Given the description of an element on the screen output the (x, y) to click on. 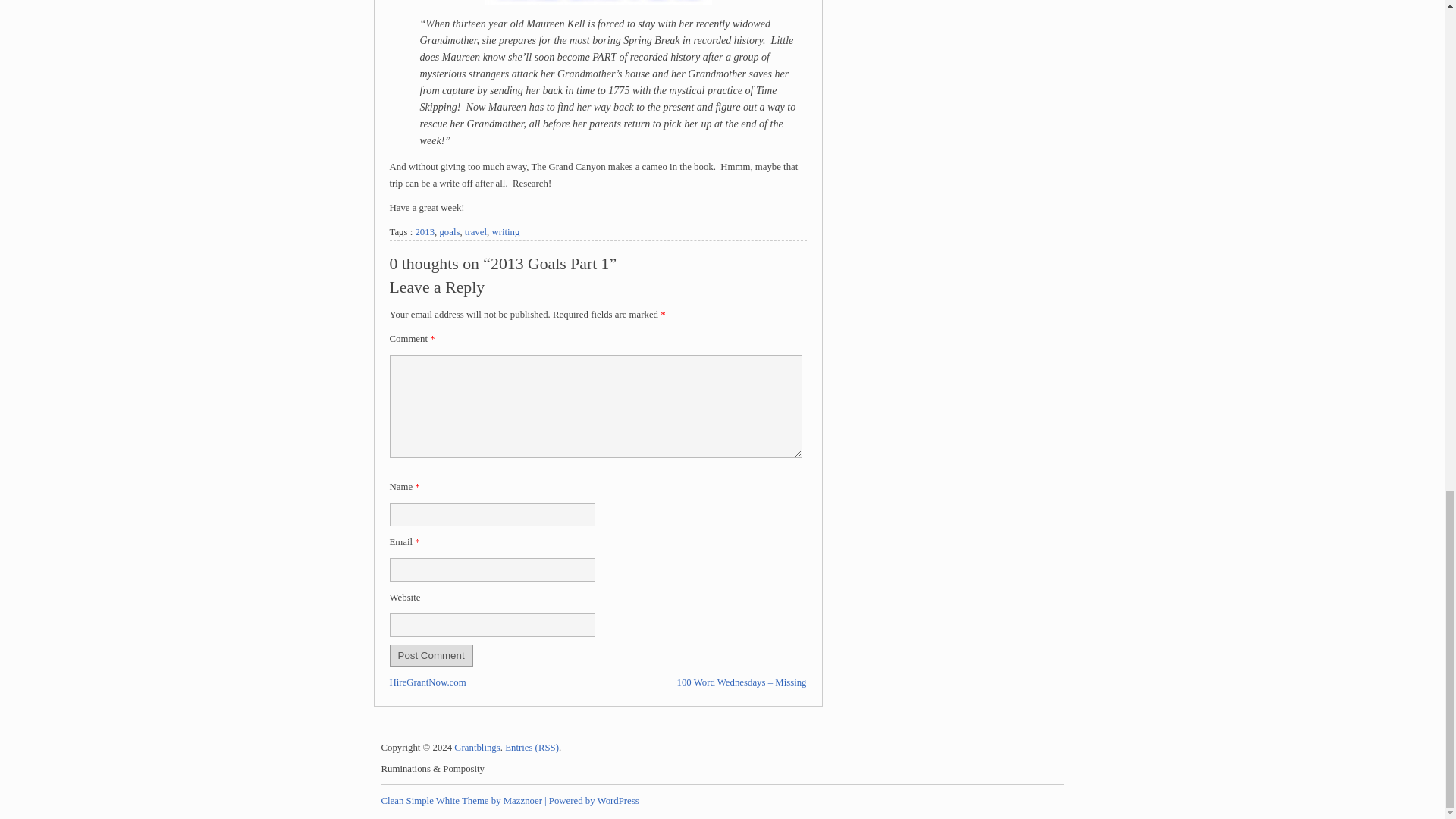
Grantblings (476, 747)
writing (505, 231)
travel (475, 231)
Powered by WordPress (593, 800)
goals (449, 231)
HireGrantNow.com (427, 682)
Post Comment (431, 655)
Post Comment (431, 655)
2013 (423, 231)
